Given the description of an element on the screen output the (x, y) to click on. 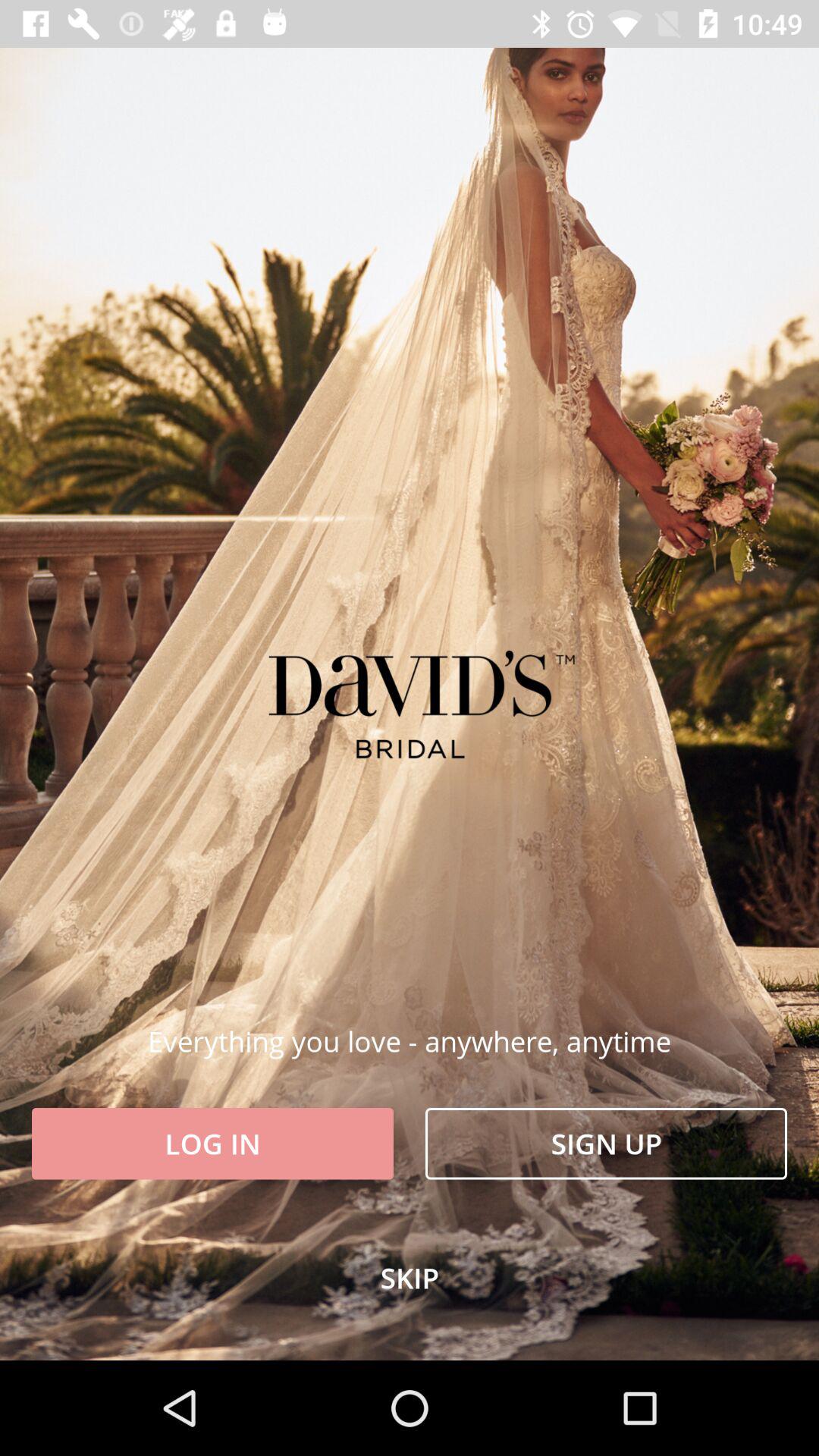
open the item above skip (212, 1143)
